Given the description of an element on the screen output the (x, y) to click on. 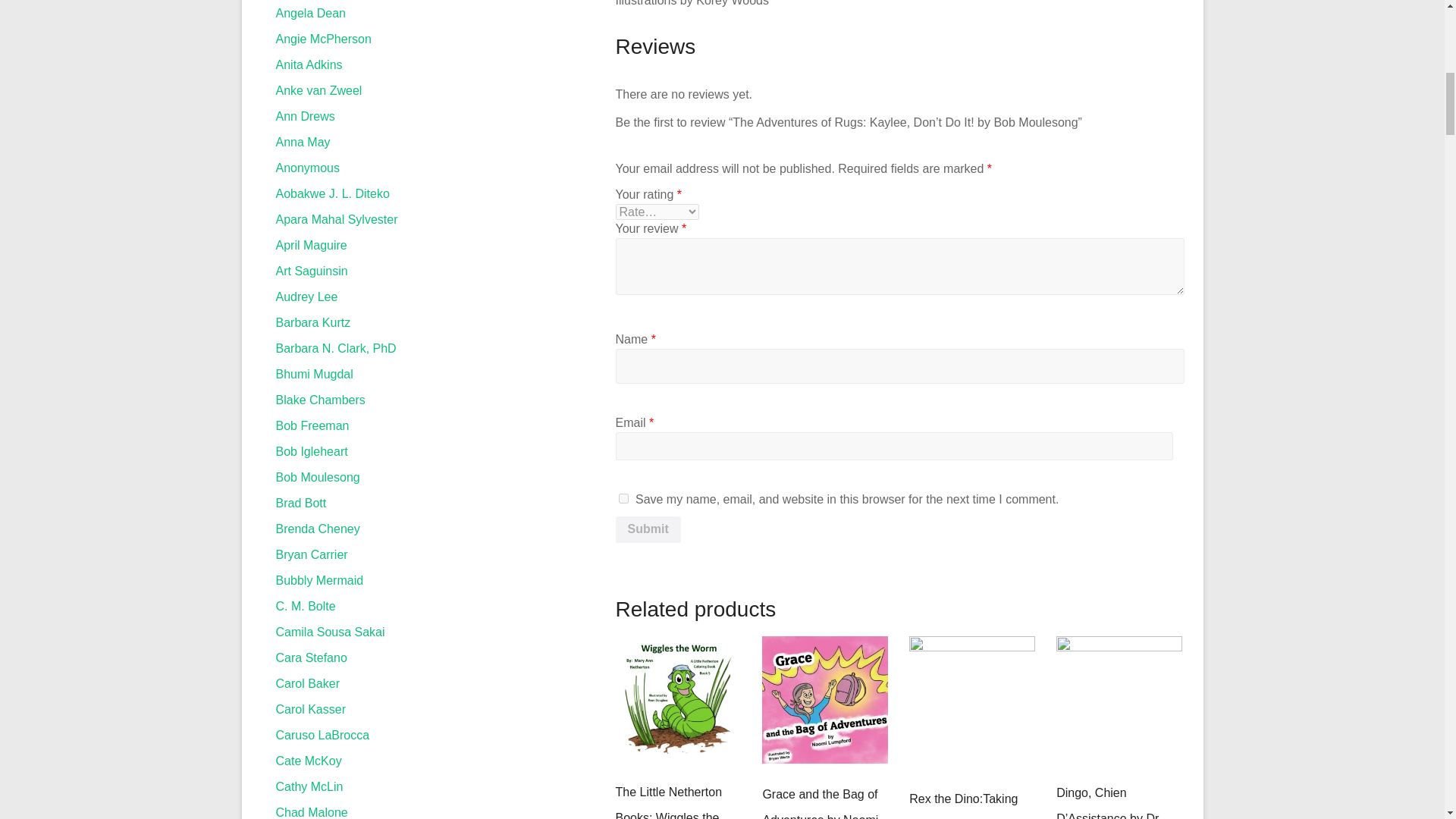
Submit (648, 529)
Submit (648, 529)
yes (623, 498)
